Given the description of an element on the screen output the (x, y) to click on. 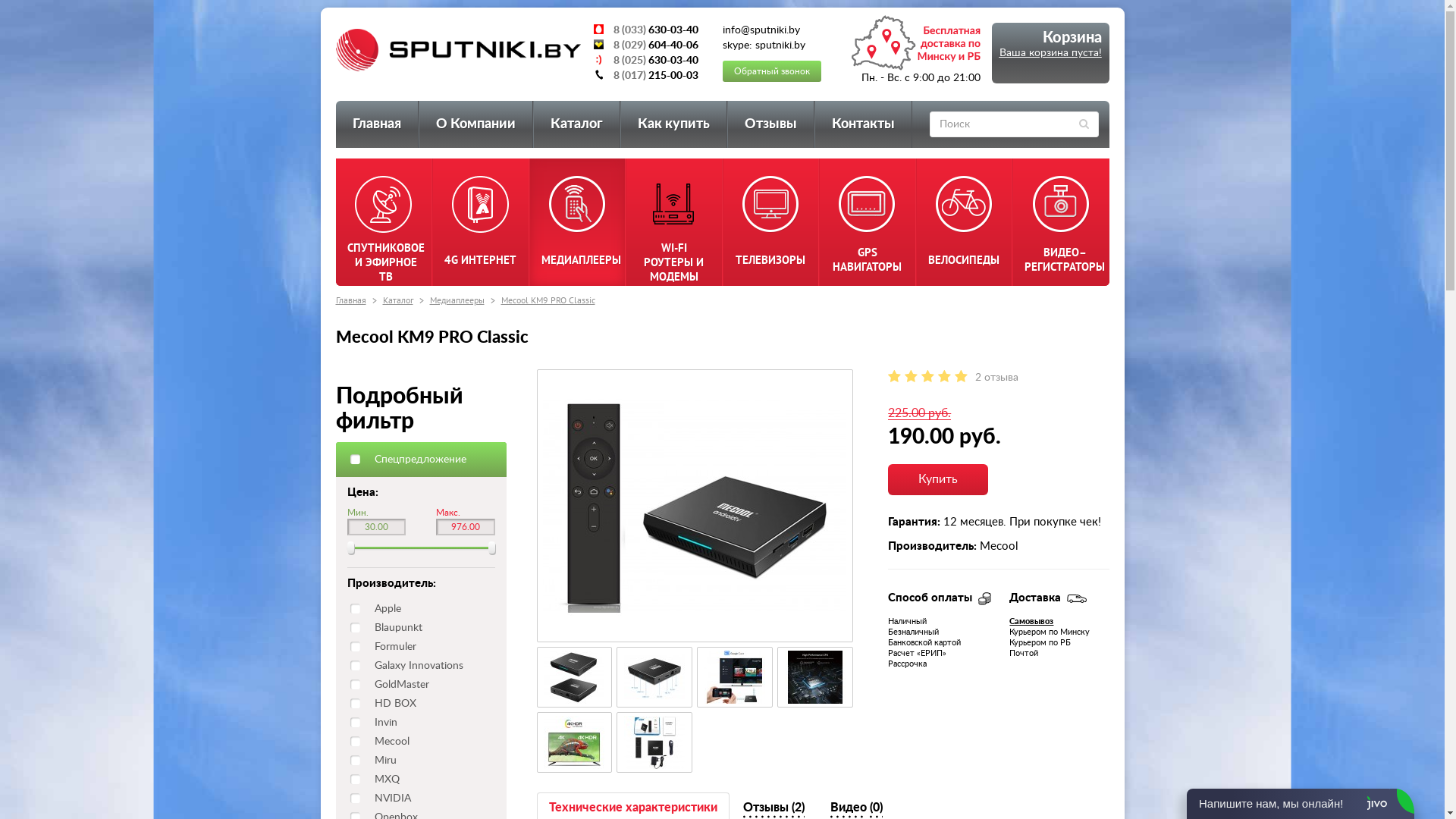
Mecool KM9 PRO Classic Element type: hover (654, 741)
Mecool KM9 PRO Classic Element type: hover (574, 676)
Mecool KM9 PRO Classic Element type: hover (654, 676)
Mecool KM9 PRO Classic Element type: hover (574, 742)
Mecool KM9 PRO Classic Element type: hover (573, 676)
Mecool KM9 PRO Classic Element type: hover (814, 676)
Mecool KM9 PRO Classic Element type: hover (734, 676)
Mecool KM9 PRO Classic Element type: hover (815, 676)
Mecool KM9 PRO Classic Element type: text (547, 299)
Mecool KM9 PRO Classic Element type: hover (694, 505)
Sputniki.by Element type: hover (457, 49)
Mecool KM9 PRO Classic Element type: hover (654, 742)
Mecool KM9 PRO Classic Element type: hover (734, 676)
Mecool KM9 PRO Classic Element type: hover (573, 741)
Mecool KM9 PRO Classic Element type: hover (654, 676)
Mecool KM9 PRO Classic Element type: hover (694, 505)
